Given the description of an element on the screen output the (x, y) to click on. 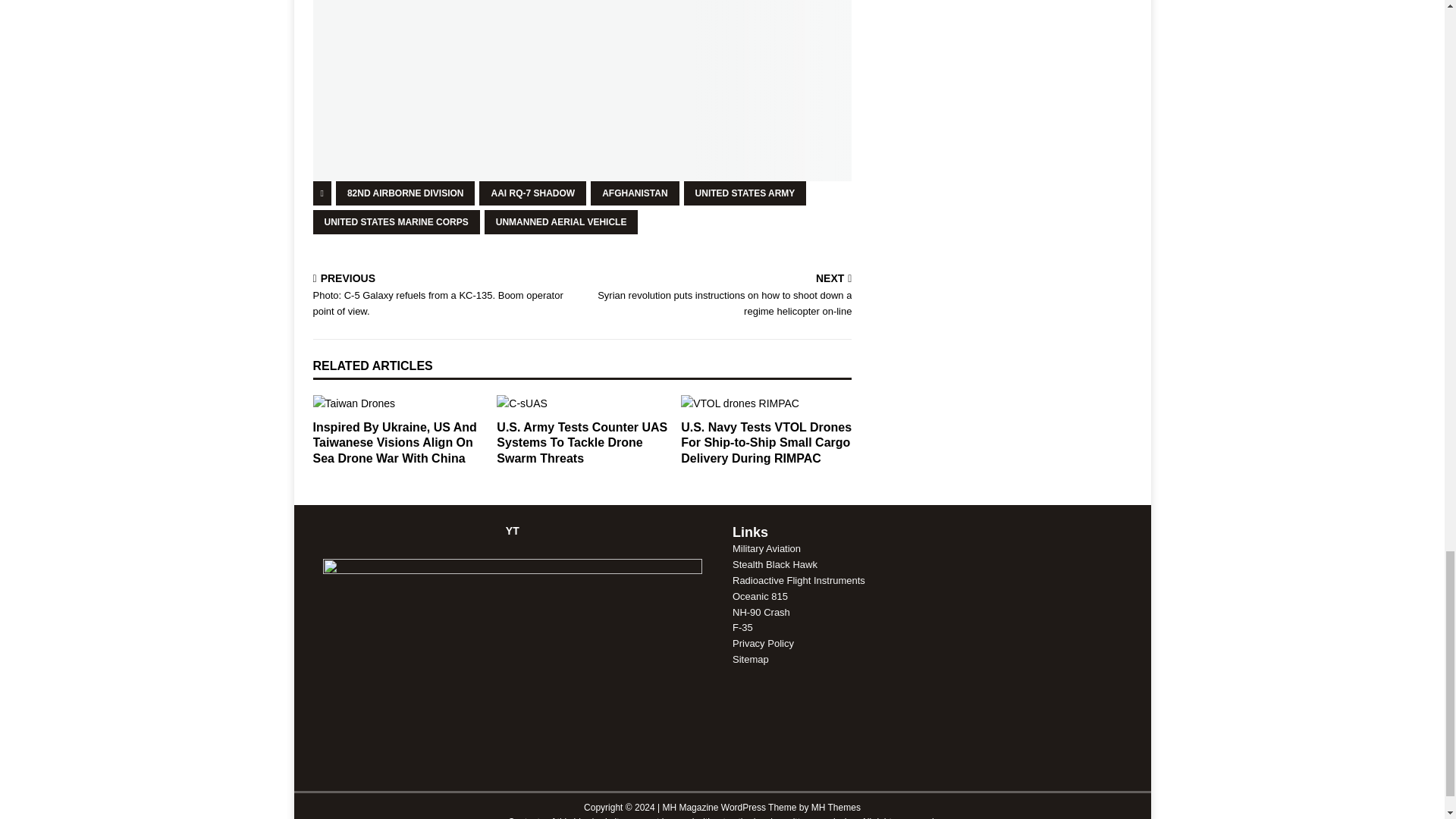
UNMANNED AERIAL VEHICLE (561, 221)
AAI RQ-7 SHADOW (532, 192)
AFGHANISTAN (634, 192)
UNITED STATES ARMY (745, 192)
UNITED STATES MARINE CORPS (396, 221)
82ND AIRBORNE DIVISION (406, 192)
